Given the description of an element on the screen output the (x, y) to click on. 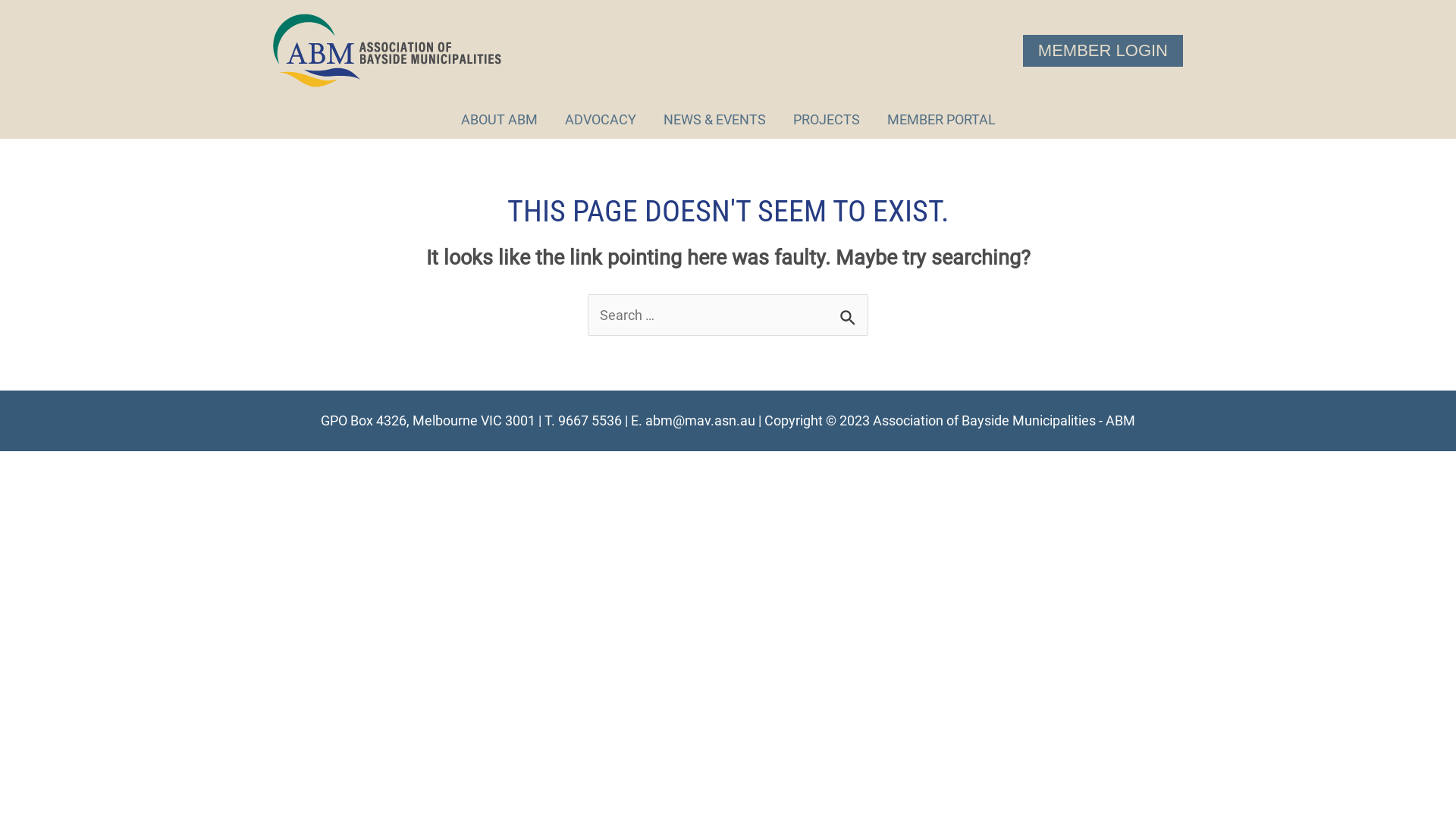
Search Element type: text (851, 312)
ABOUT ABM Element type: text (499, 119)
PROJECTS Element type: text (826, 119)
ADVOCACY Element type: text (599, 119)
MEMBER LOGIN Element type: text (1102, 50)
NEWS & EVENTS Element type: text (713, 119)
MEMBER PORTAL Element type: text (941, 119)
